Given the description of an element on the screen output the (x, y) to click on. 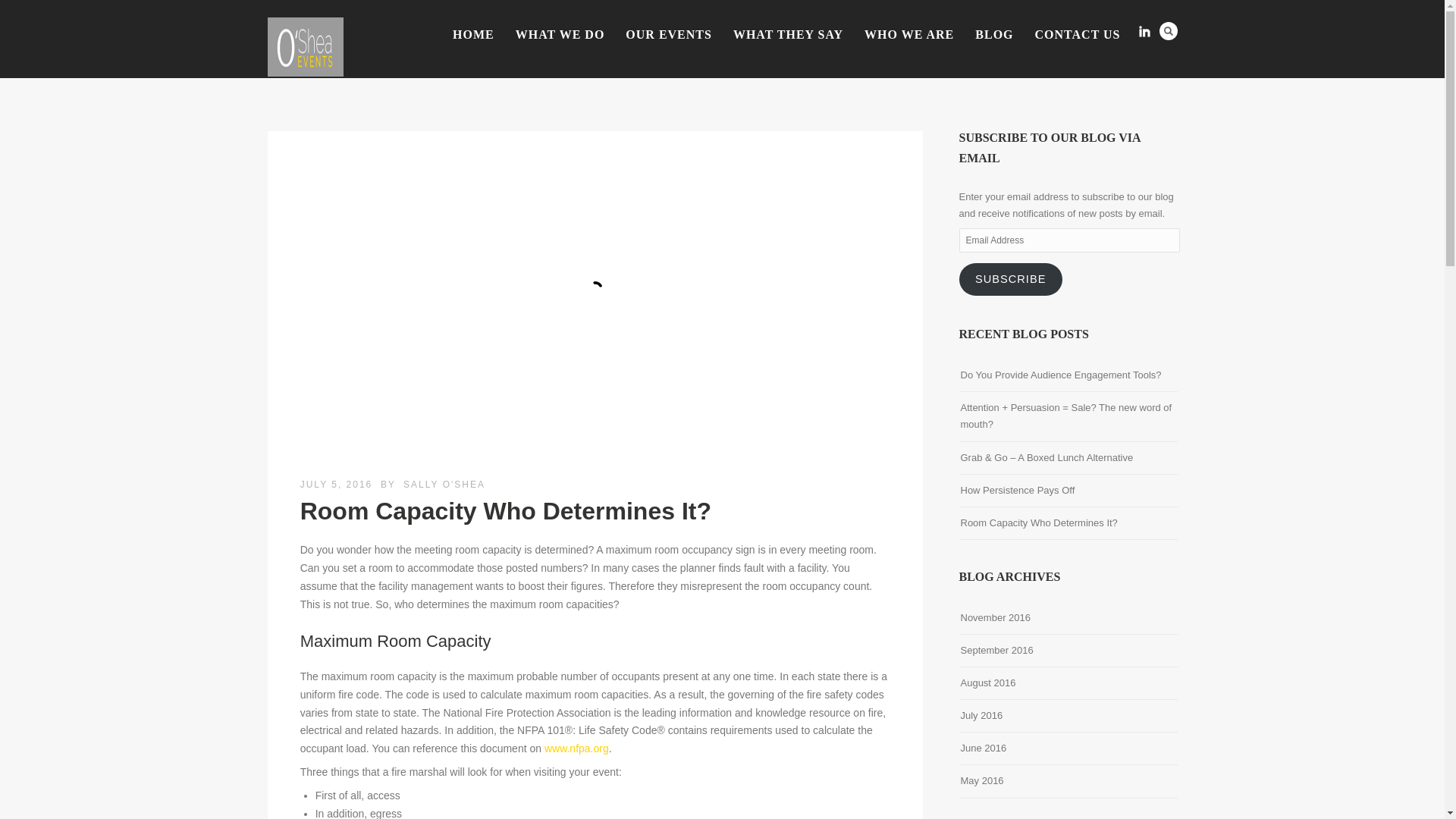
www.nfpa.org (576, 748)
SALLY O'SHEA (443, 484)
Do You Provide Audience Engagement Tools? (1059, 374)
WHAT WE DO (560, 33)
WHAT THEY SAY (787, 33)
OUR EVENTS (668, 33)
Link with Sally O'Shea (1143, 31)
BLOG (993, 33)
HOME (473, 33)
CONTACT US (1078, 33)
